Given the description of an element on the screen output the (x, y) to click on. 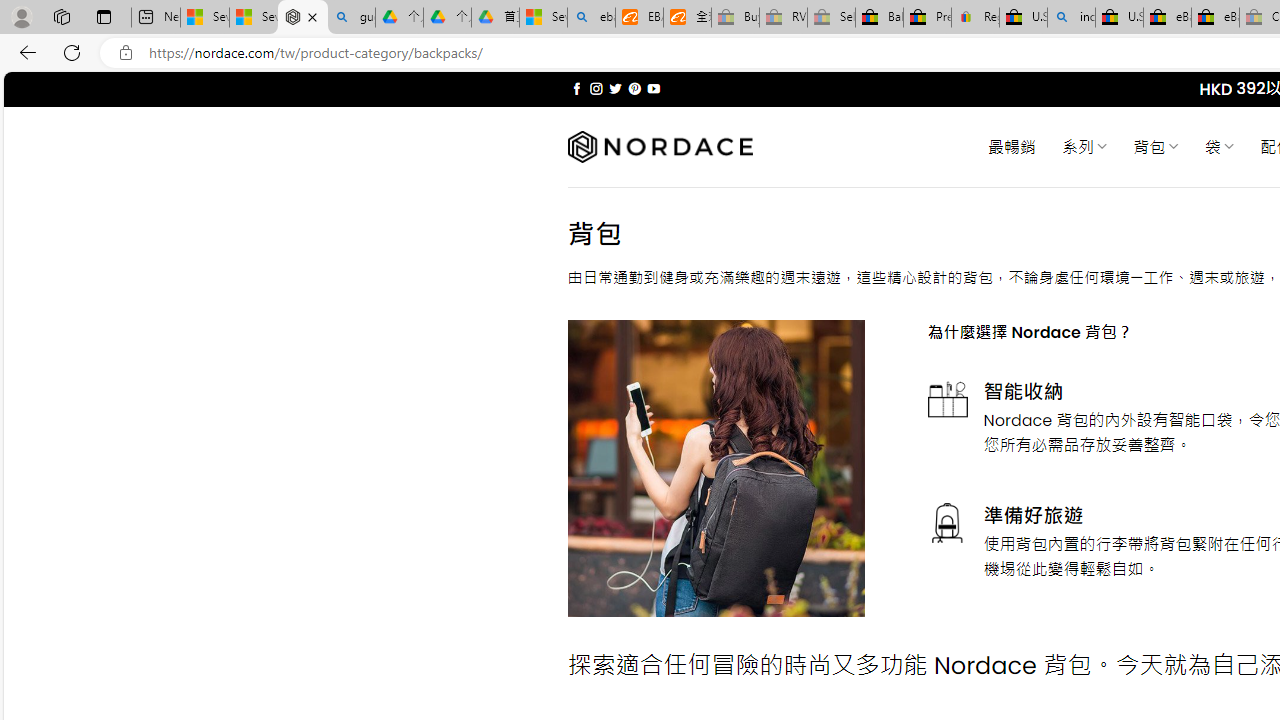
Sell worldwide with eBay - Sleeping (831, 17)
